Given the description of an element on the screen output the (x, y) to click on. 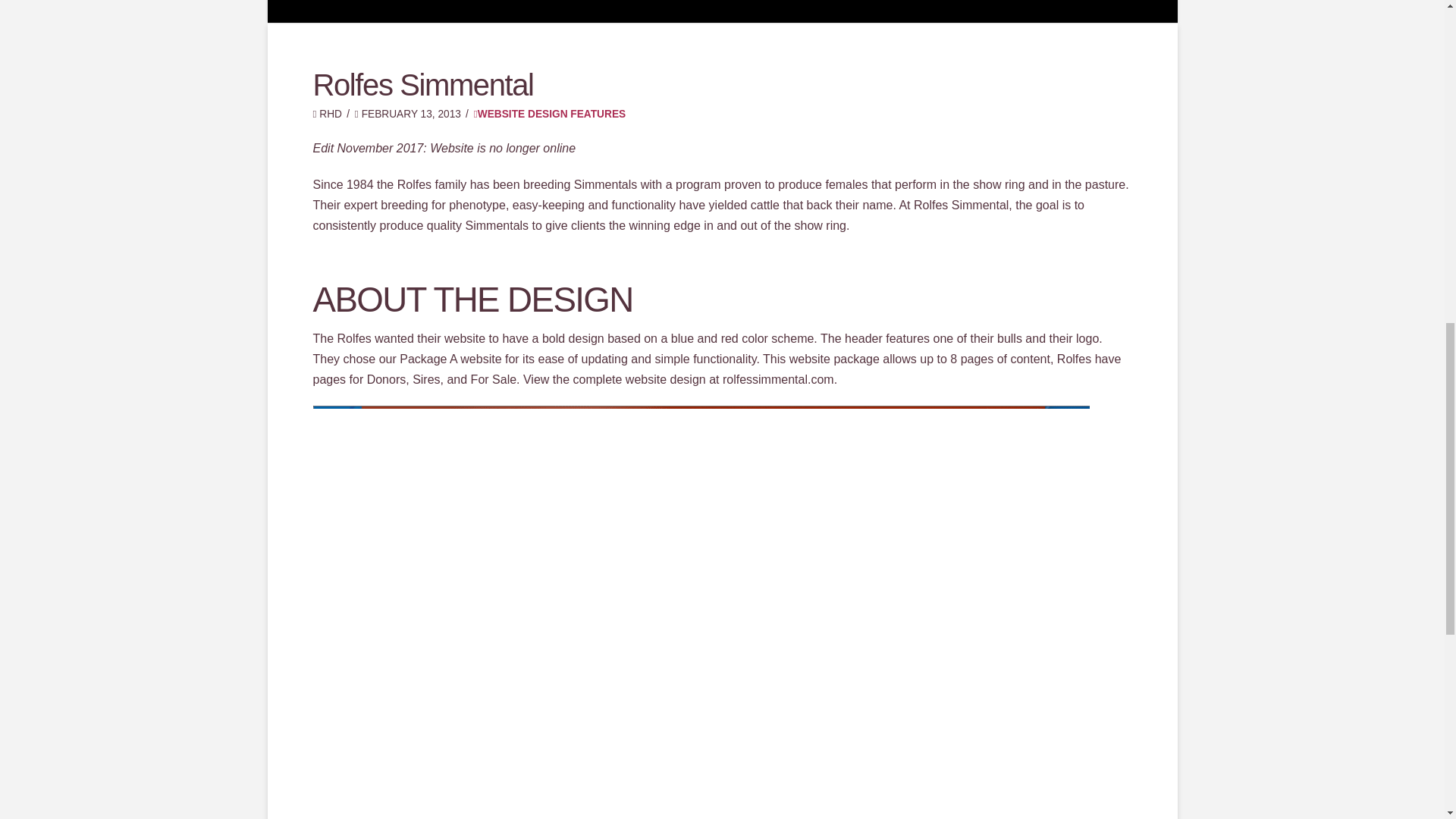
WEBSITE DESIGN FEATURES (550, 113)
